Given the description of an element on the screen output the (x, y) to click on. 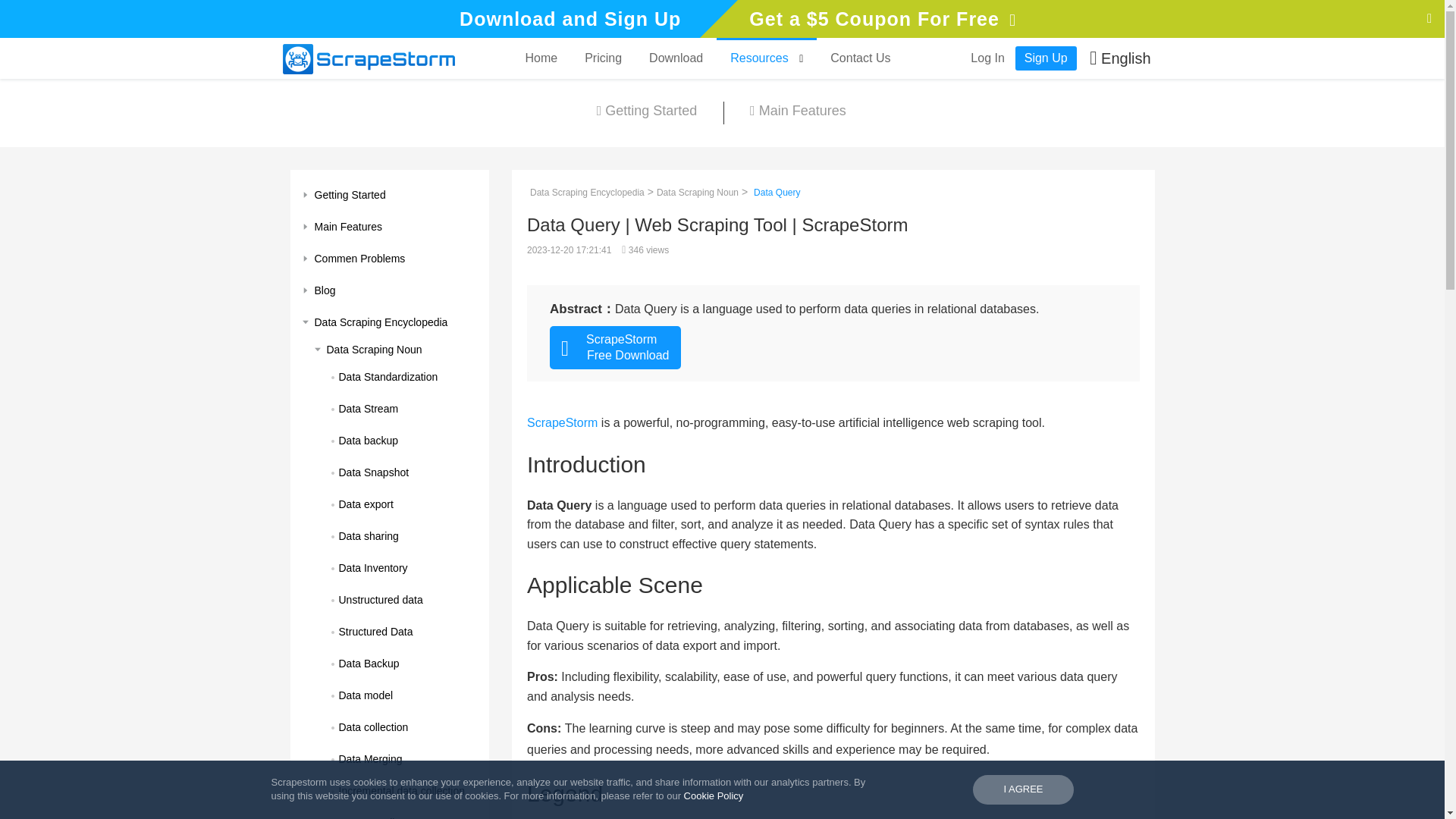
Home (540, 57)
Contact Us (860, 57)
Main Features (389, 226)
Download (675, 57)
Pricing (602, 57)
Getting Started (389, 194)
Main Features (796, 112)
Log In (986, 57)
Sign Up (1045, 57)
Getting Started (646, 112)
Resources (766, 58)
